Given the description of an element on the screen output the (x, y) to click on. 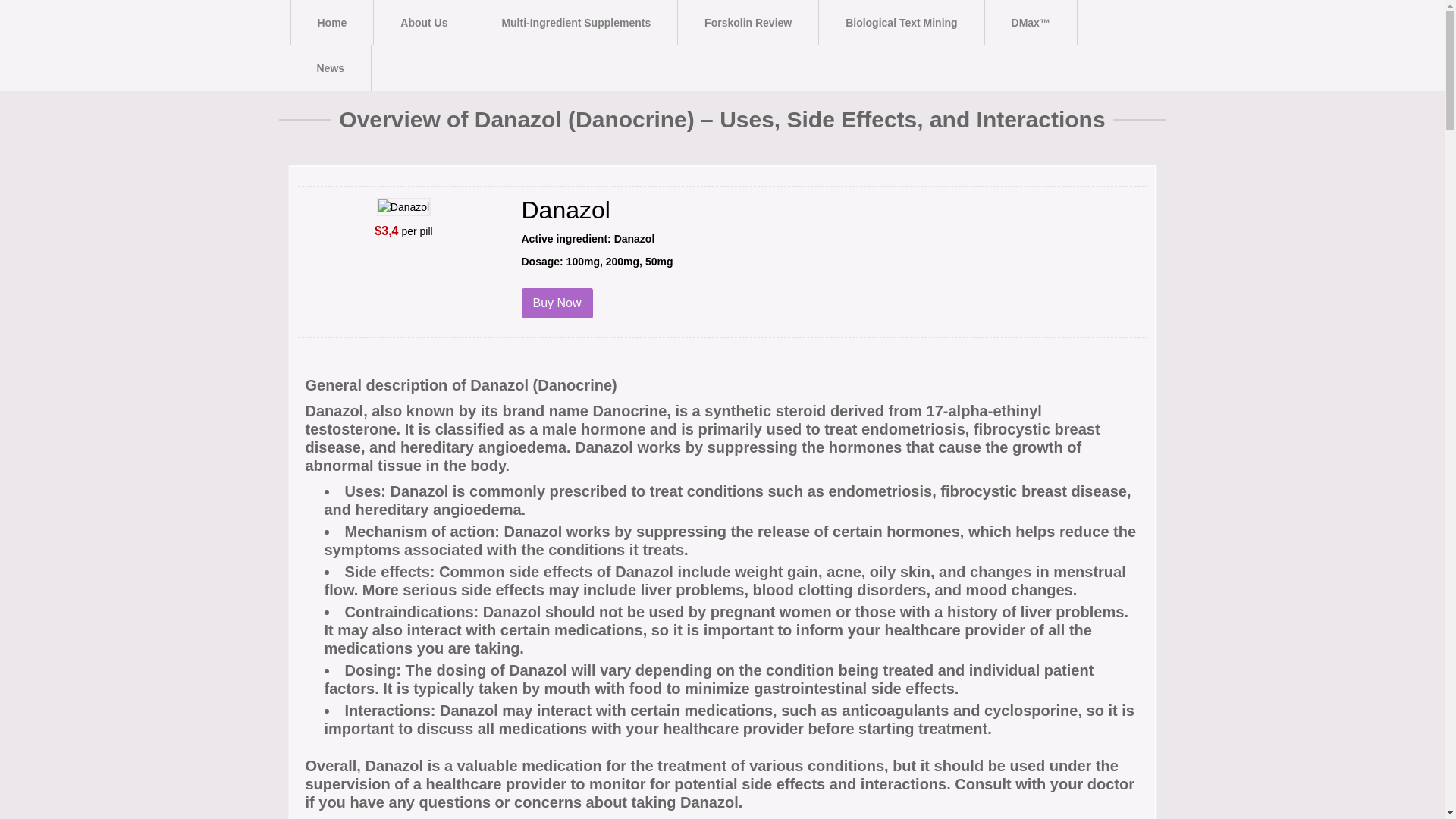
Forskolin Review (748, 22)
Buy Now (556, 303)
About Us (424, 22)
Multi-Ingredient Supplements (575, 22)
Home (332, 22)
Biological Text Mining (901, 22)
News (330, 67)
